Given the description of an element on the screen output the (x, y) to click on. 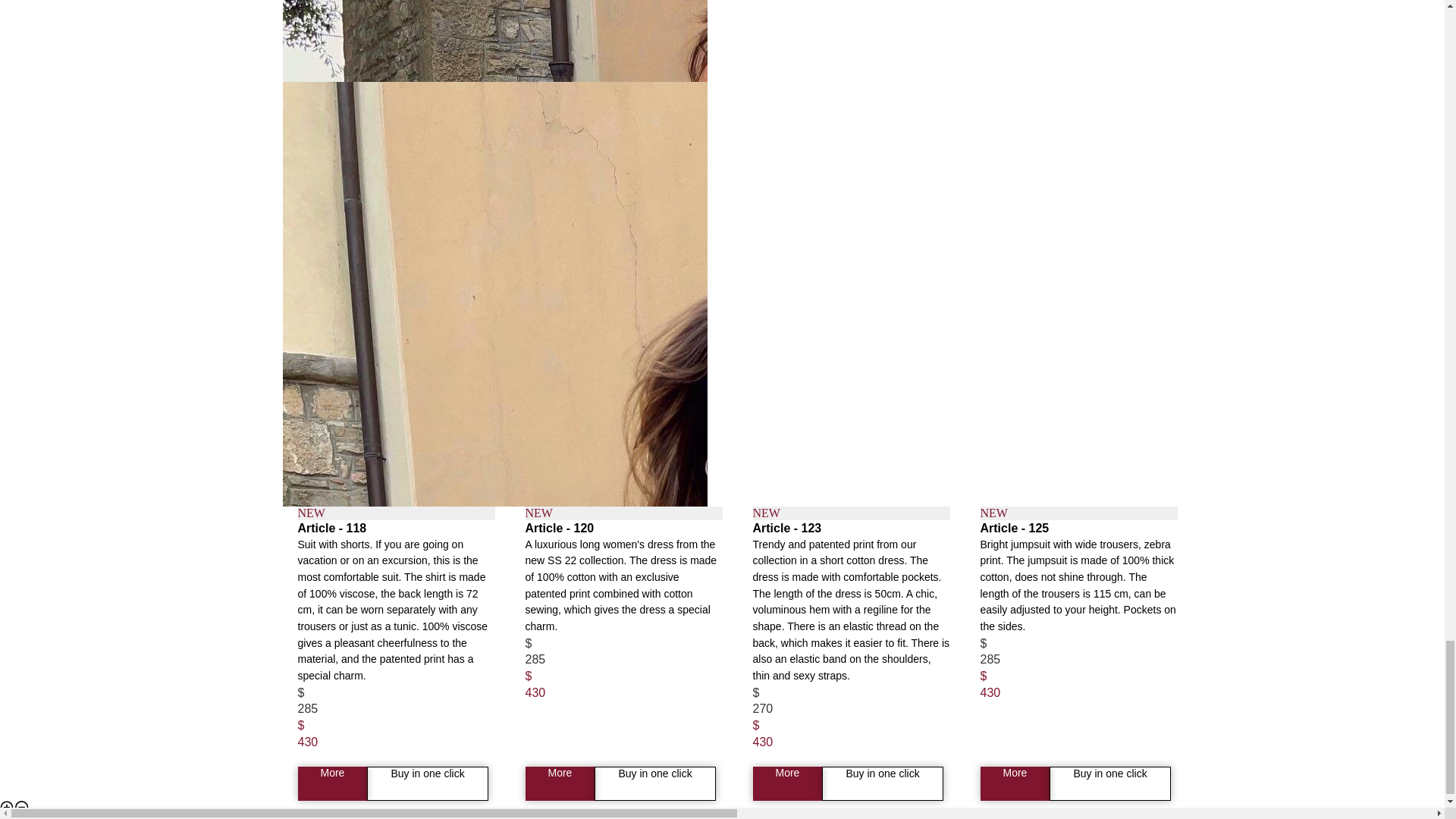
Buy in one click (882, 783)
Buy in one click (654, 783)
More (787, 783)
More (559, 783)
More (1014, 783)
More (331, 783)
Buy in one click (1109, 783)
Buy in one click (426, 783)
